Given the description of an element on the screen output the (x, y) to click on. 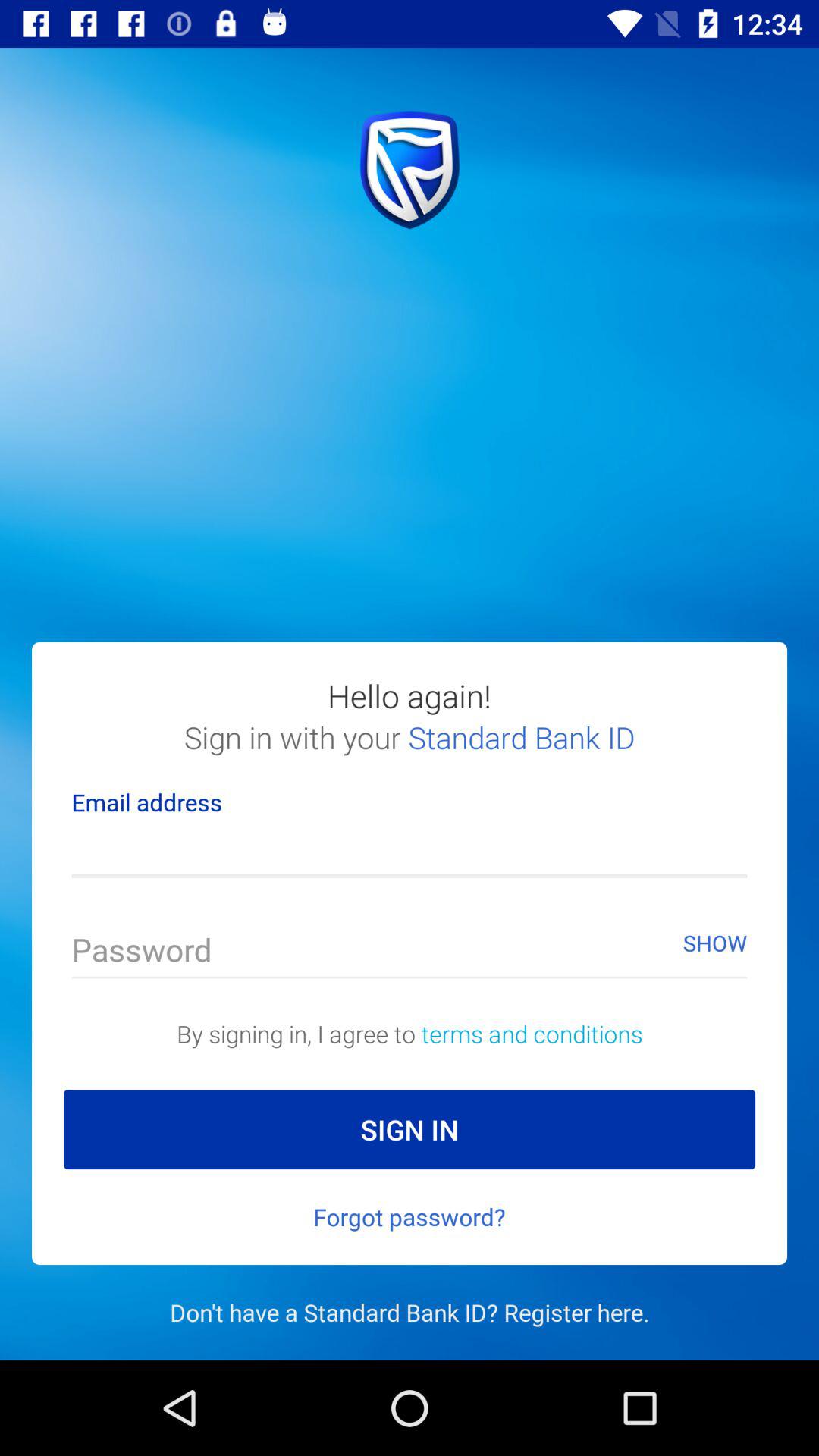
enter your password (409, 953)
